Given the description of an element on the screen output the (x, y) to click on. 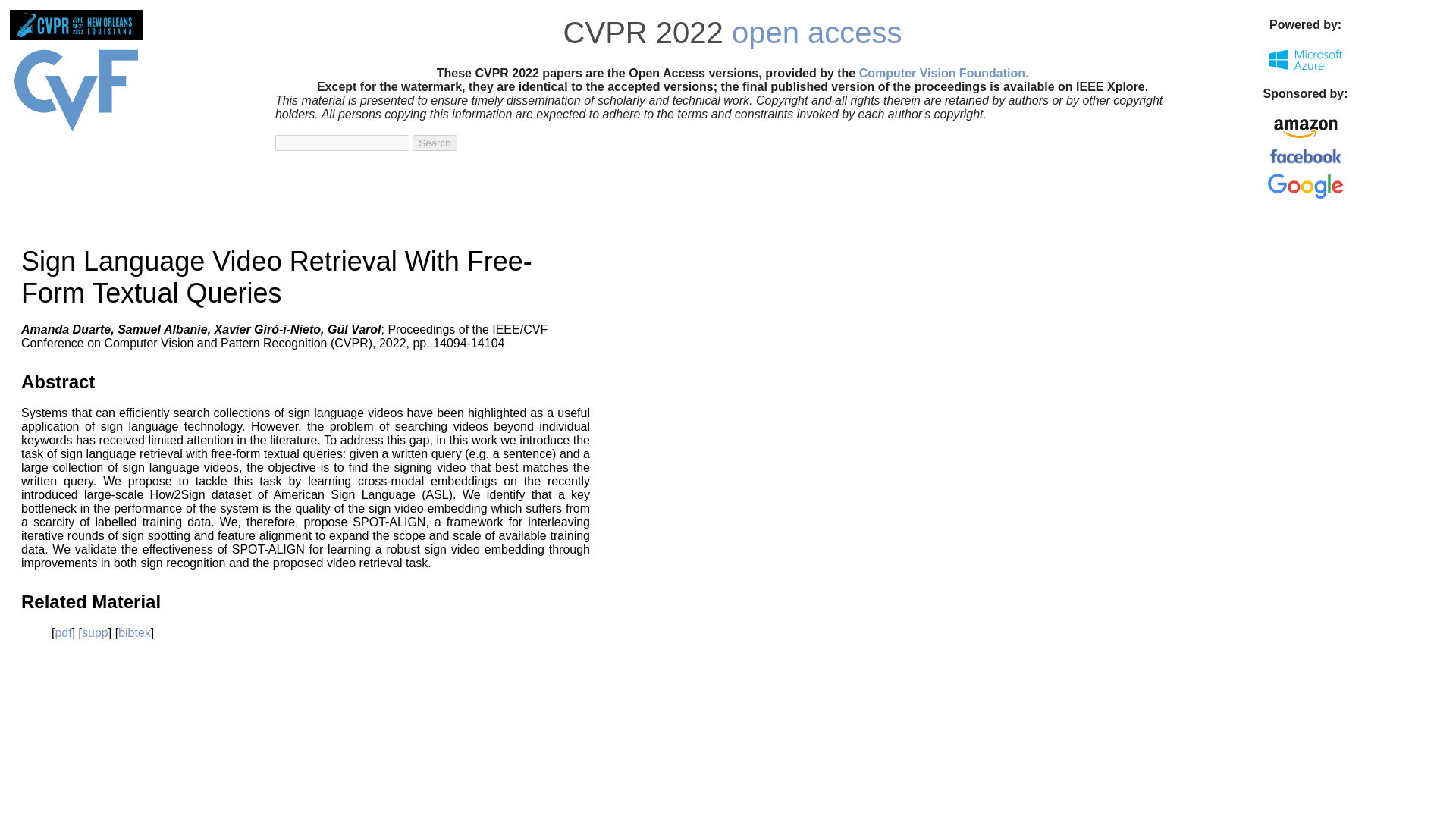
bibtex (134, 632)
CVPR 2022 (643, 32)
Computer Vision Foundation. (944, 72)
supp (94, 632)
Search (434, 142)
pdf (63, 632)
open access (817, 32)
Search (434, 142)
